Given the description of an element on the screen output the (x, y) to click on. 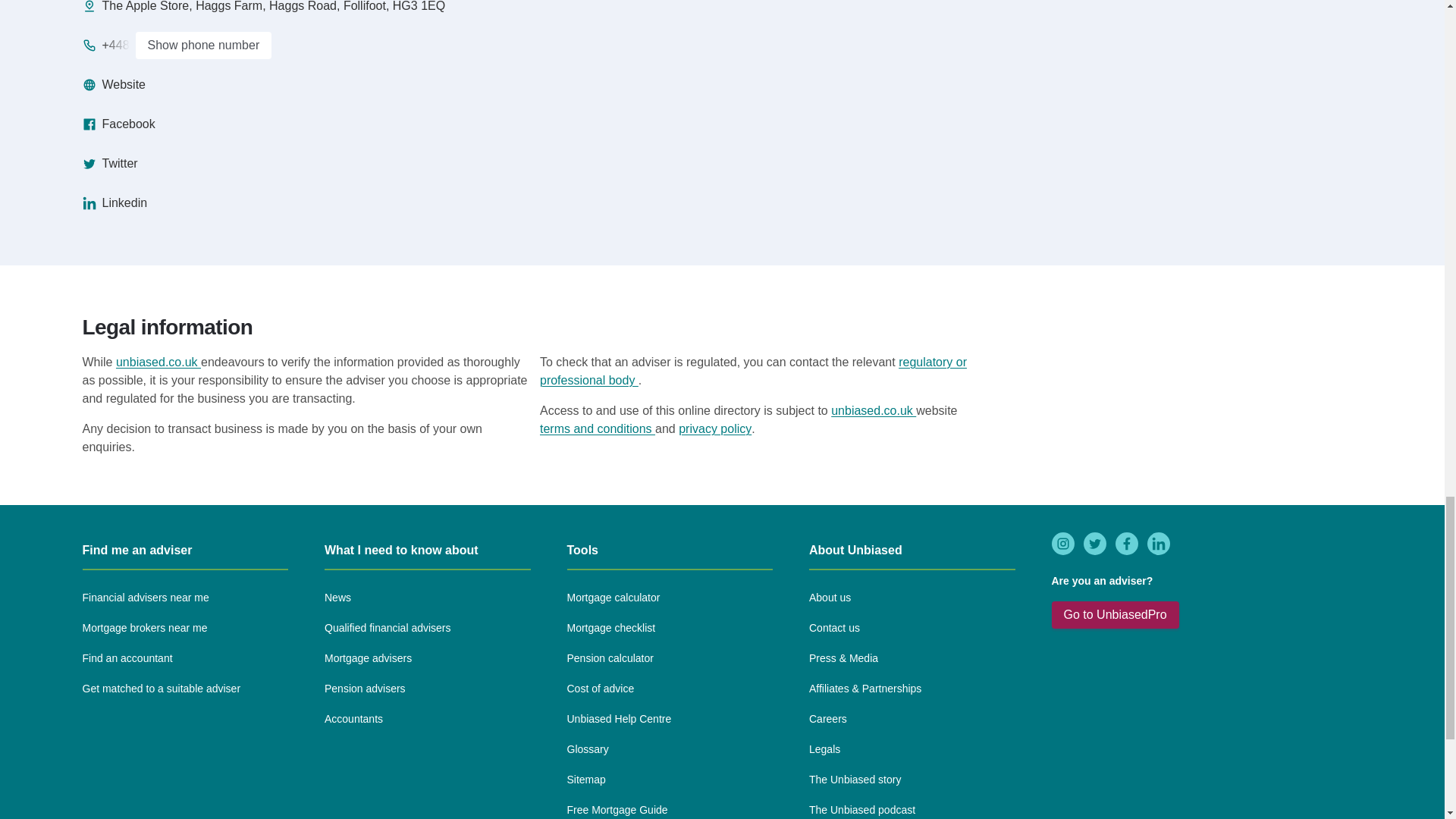
unbiased.co.uk (873, 410)
Mortgage brokers near me (143, 628)
Financial advisers near me (144, 598)
Facebook (117, 124)
unbiased.co.uk (158, 361)
regulatory or professional body (753, 370)
Website (113, 85)
Twitter (108, 163)
Show phone number (203, 44)
terms and conditions (597, 428)
privacy policy (714, 429)
Linkedin (114, 203)
The Apple Store, Haggs Farm, Haggs Road, Follifoot, HG3 1EQ (263, 7)
